Given the description of an element on the screen output the (x, y) to click on. 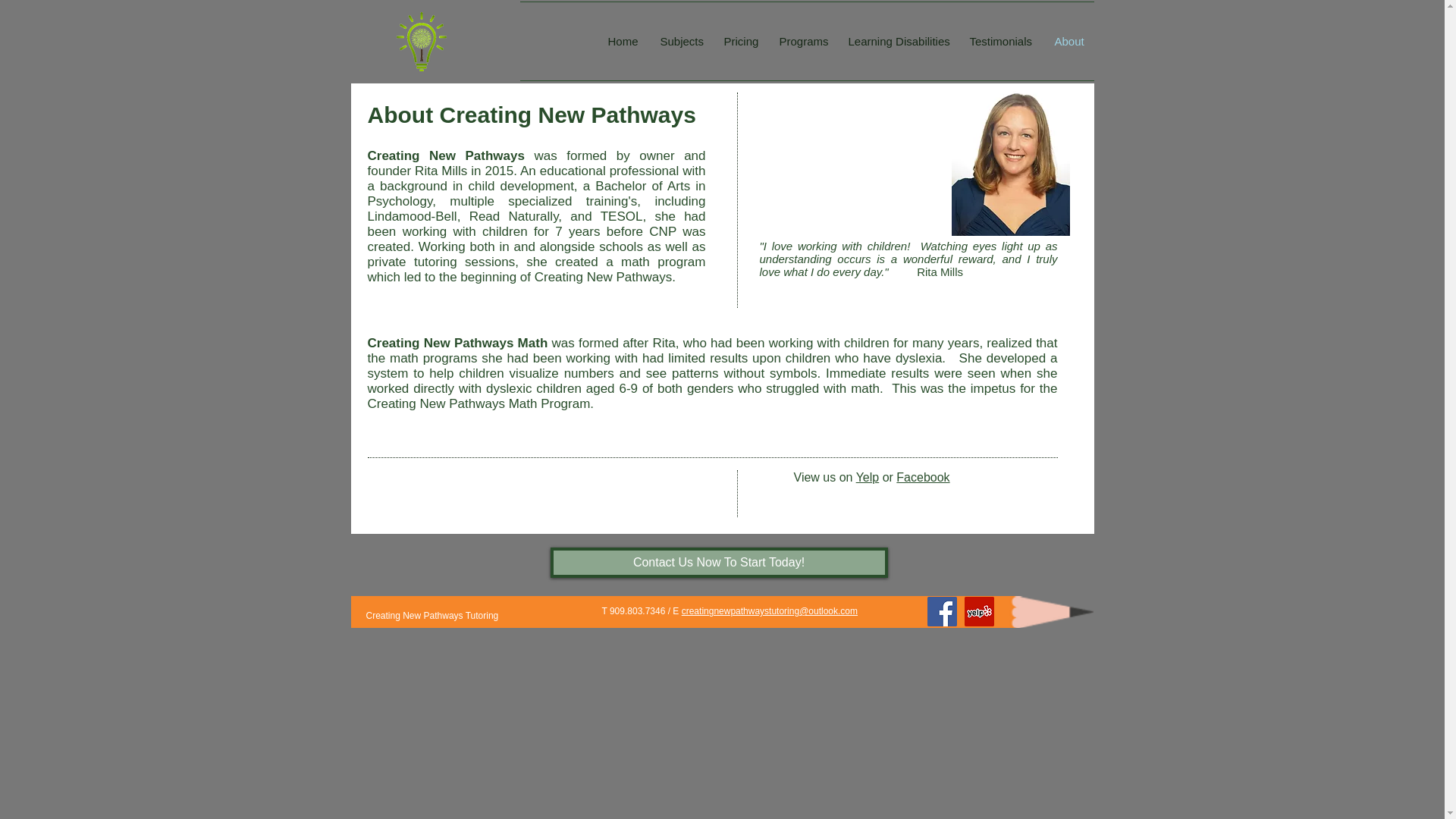
Facebook (922, 477)
Learning Disabilities (897, 41)
Yelp (867, 477)
Contact Us Now To Start Today! (719, 562)
Testimonials (1000, 41)
